Given the description of an element on the screen output the (x, y) to click on. 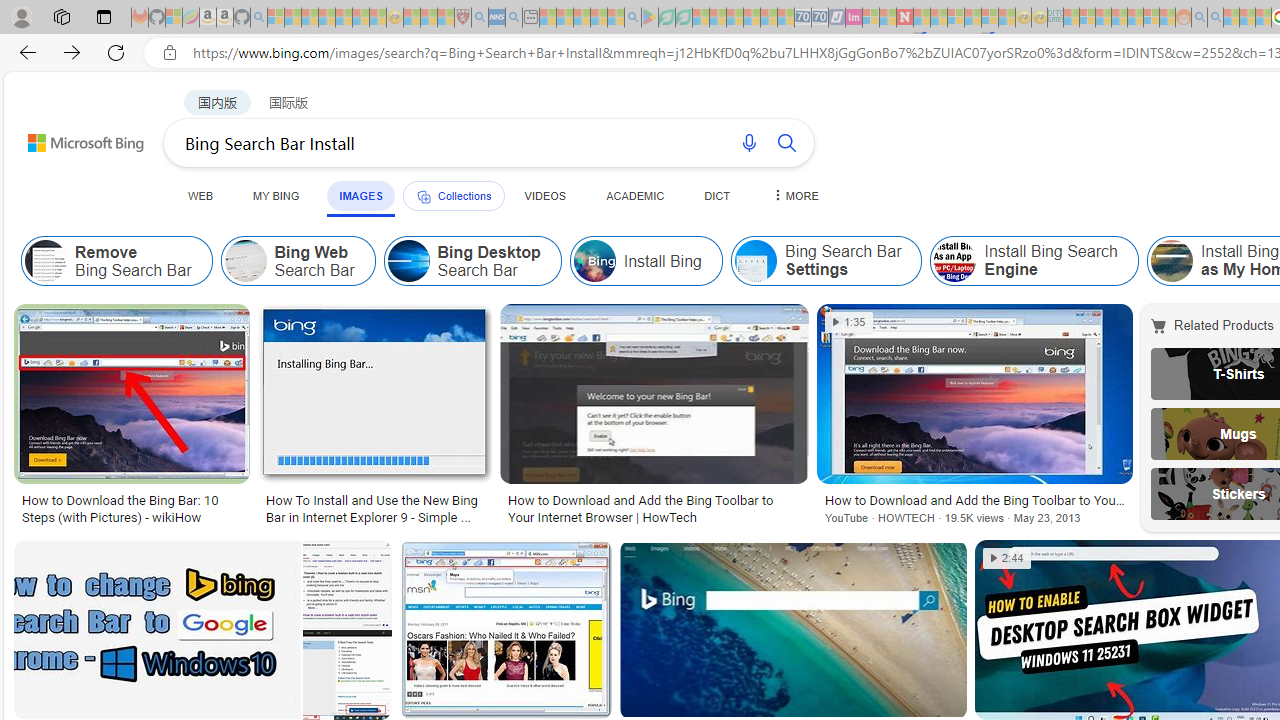
Install Bing (594, 260)
2:44 (1007, 558)
Bing Search Bar Settings (754, 260)
Remove Bing Search Bar (45, 260)
Image result for Bing Search Bar Install (792, 630)
